Given the description of an element on the screen output the (x, y) to click on. 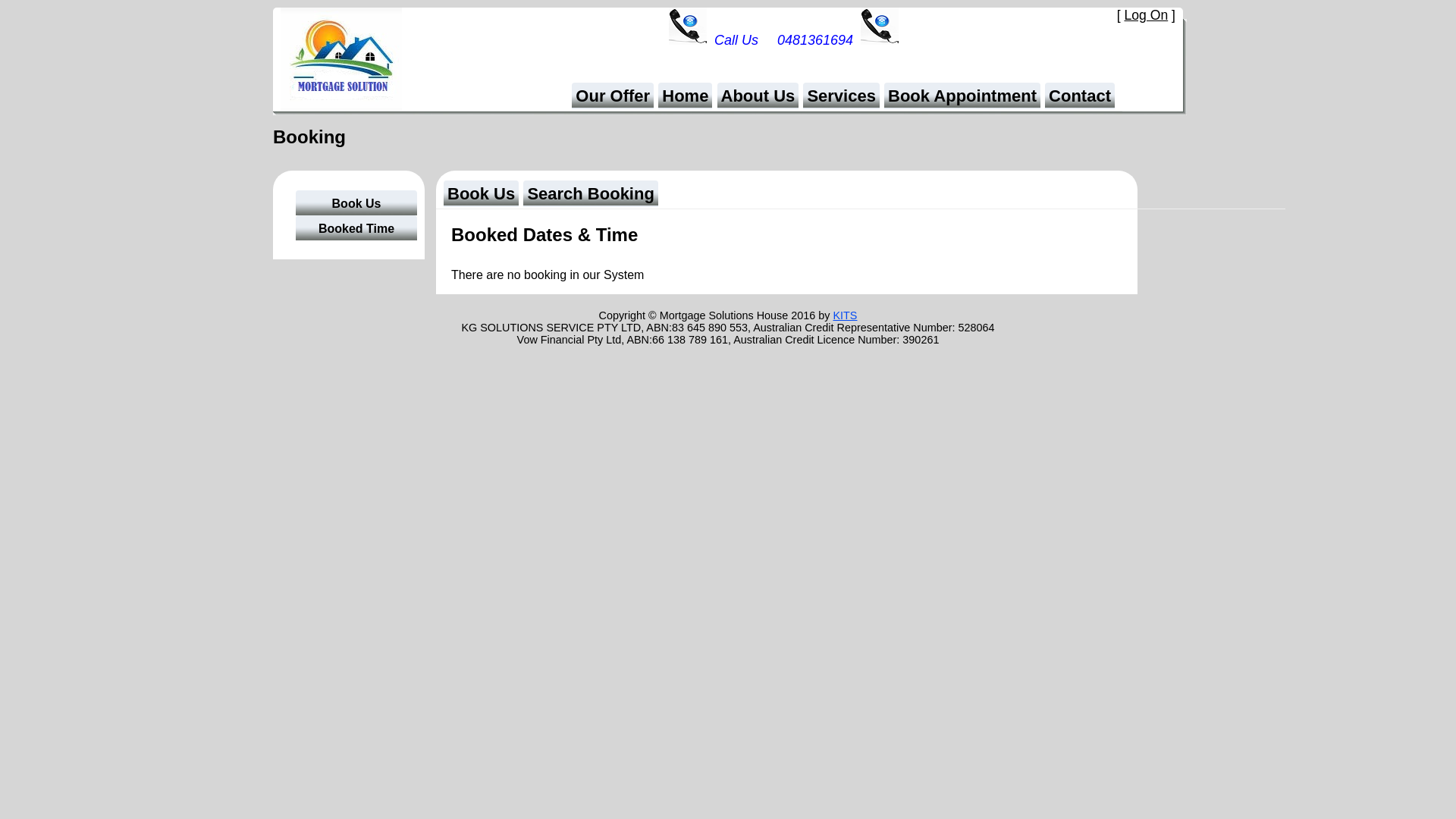
Booked Time Element type: text (356, 227)
Log On Element type: text (1145, 14)
KITS Element type: text (844, 315)
Search Booking Element type: text (590, 193)
Book Appointment Element type: text (962, 95)
Book Us Element type: text (356, 202)
Services Element type: text (841, 95)
Home Element type: text (685, 95)
About Us Element type: text (758, 95)
Book Us Element type: text (480, 193)
Our Offer Element type: text (612, 95)
Contact Element type: text (1079, 95)
